Given the description of an element on the screen output the (x, y) to click on. 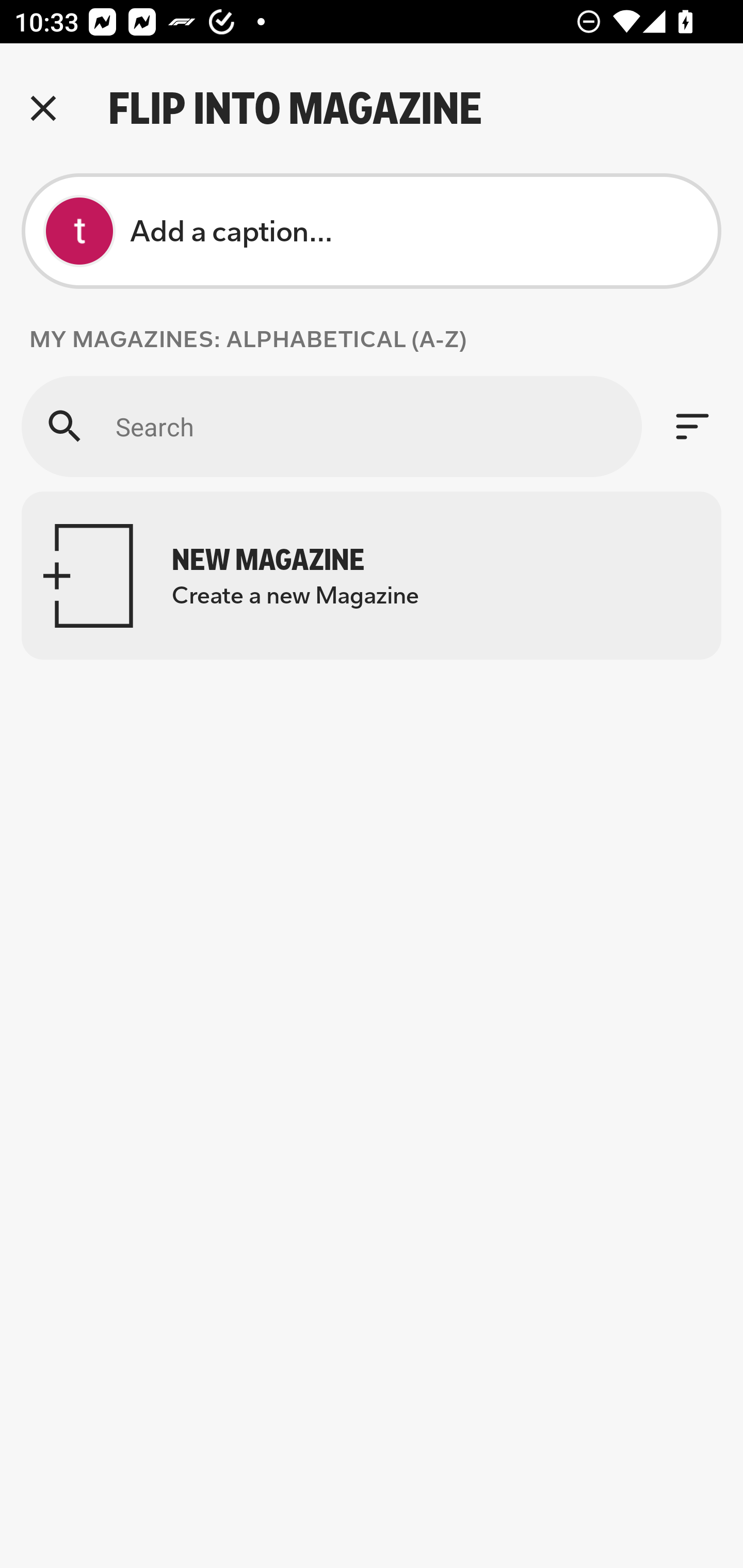
test appium Add a caption… (371, 231)
Search (331, 426)
NEW MAGAZINE Create a new Magazine (371, 575)
